Given the description of an element on the screen output the (x, y) to click on. 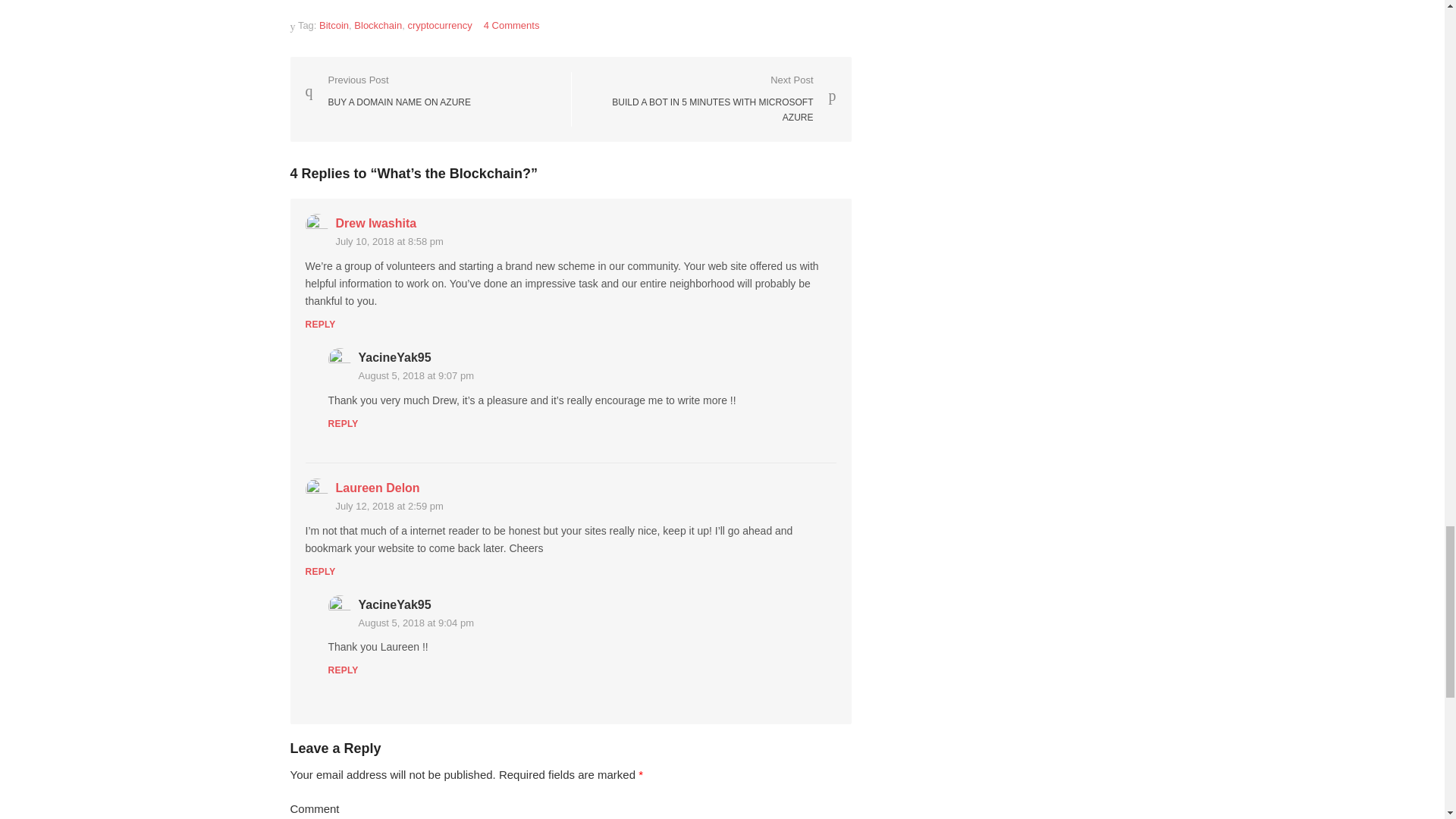
Blockchain (377, 25)
Bitcoin (333, 25)
4 Comments (511, 25)
REPLY (319, 324)
cryptocurrency (439, 25)
Drew Iwashita (710, 99)
July 10, 2018 at 8:58 pm (387, 91)
August 5, 2018 at 9:07 pm (375, 223)
